Given the description of an element on the screen output the (x, y) to click on. 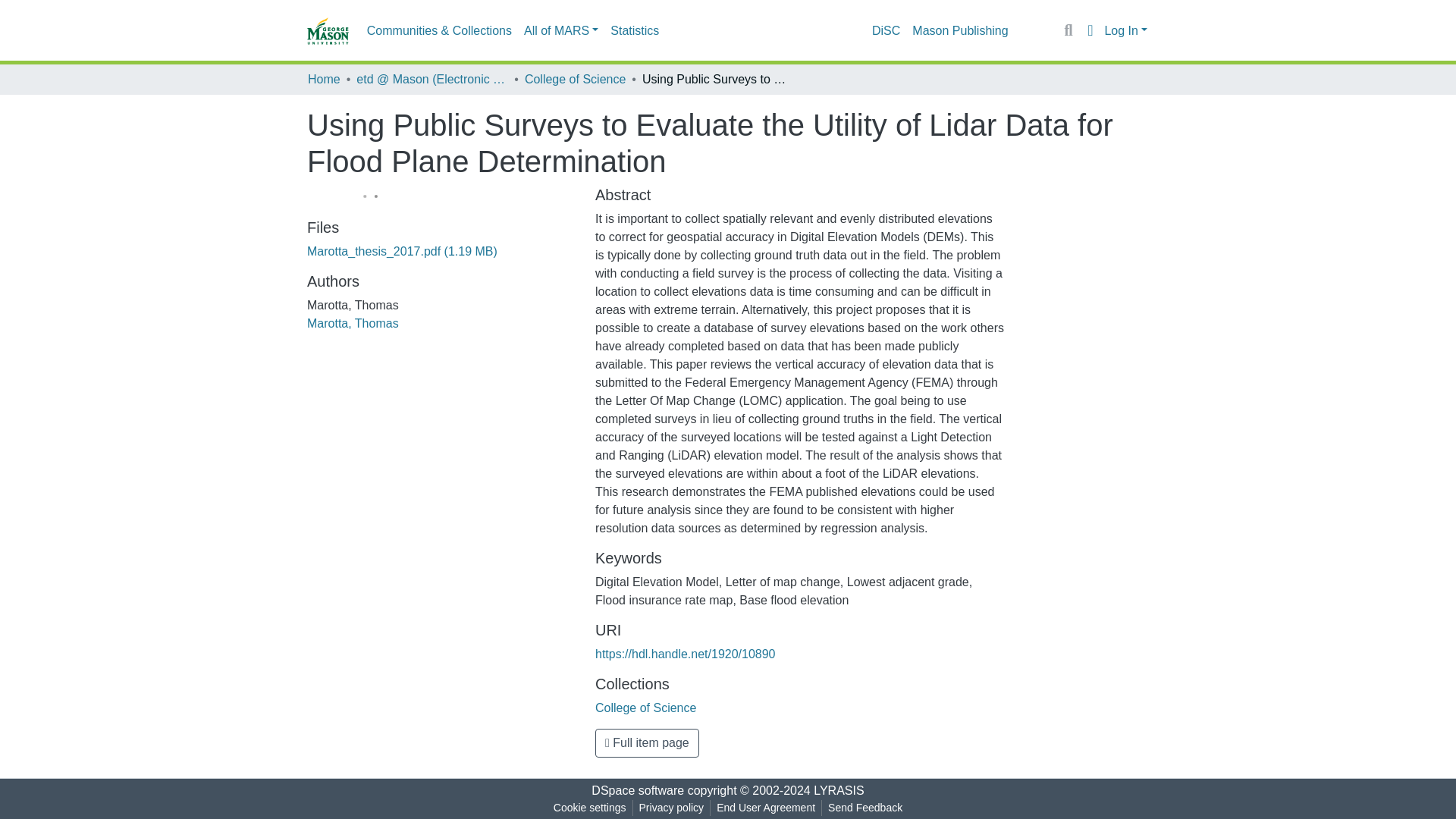
Statistics (634, 30)
College of Science (645, 707)
College of Science (575, 79)
Search (1067, 30)
Cookie settings (589, 807)
Mason Publishing (959, 30)
Statistics (634, 30)
Home (323, 79)
Language switch (1089, 30)
End User Agreement (765, 807)
